Given the description of an element on the screen output the (x, y) to click on. 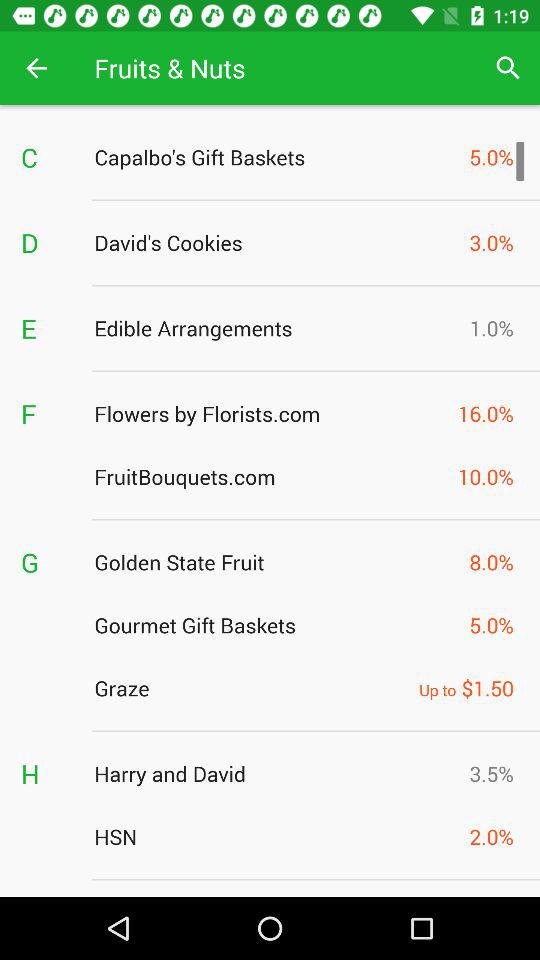
select capalbo s gift (276, 157)
